Given the description of an element on the screen output the (x, y) to click on. 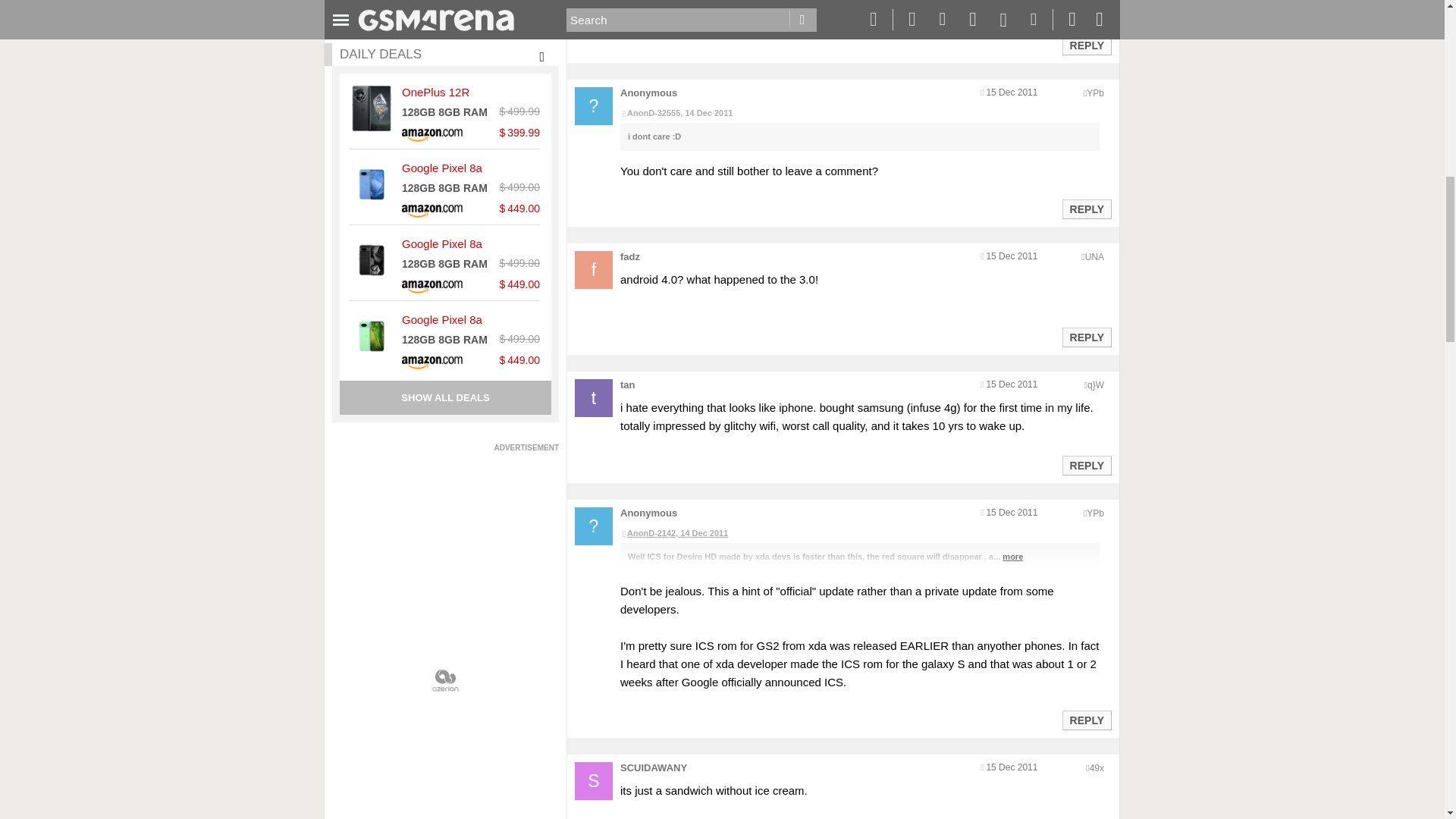
Encoded anonymized location (1094, 92)
Encoded anonymized location (1093, 256)
Encoded anonymized location (1096, 767)
Reply to this post (1086, 465)
Reply to this post (1086, 209)
Reply to this post (1086, 45)
Reply to this post (1086, 337)
Encoded anonymized location (1094, 512)
Reply to this post (1086, 720)
Encoded anonymized location (1095, 385)
